Given the description of an element on the screen output the (x, y) to click on. 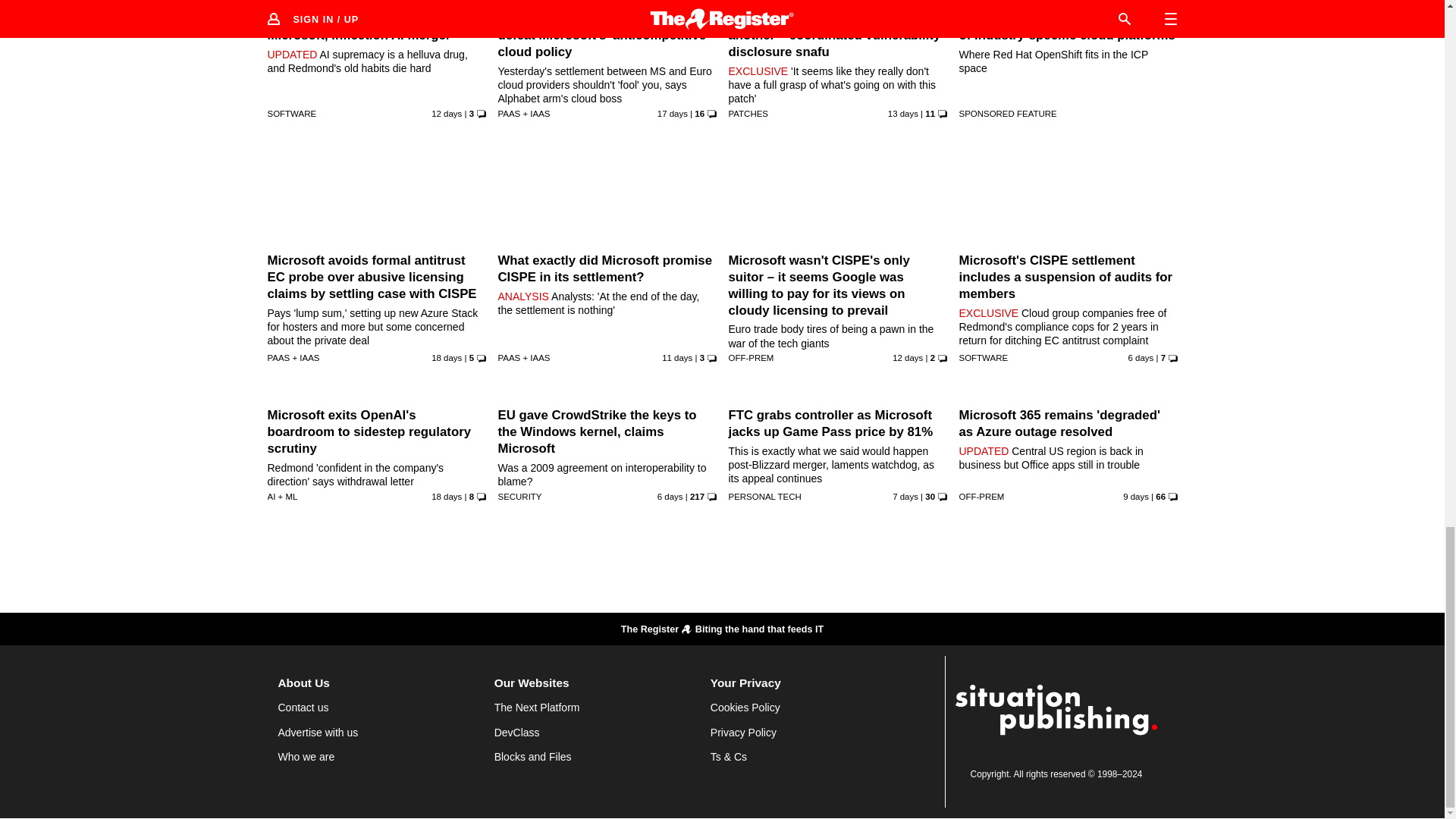
11 Jul 2024 14:15 (672, 112)
10 Jul 2024 15:21 (445, 357)
16 Jul 2024 15:0 (445, 112)
17 Jul 2024 13:42 (677, 357)
15 Jul 2024 15:0 (903, 112)
